Given the description of an element on the screen output the (x, y) to click on. 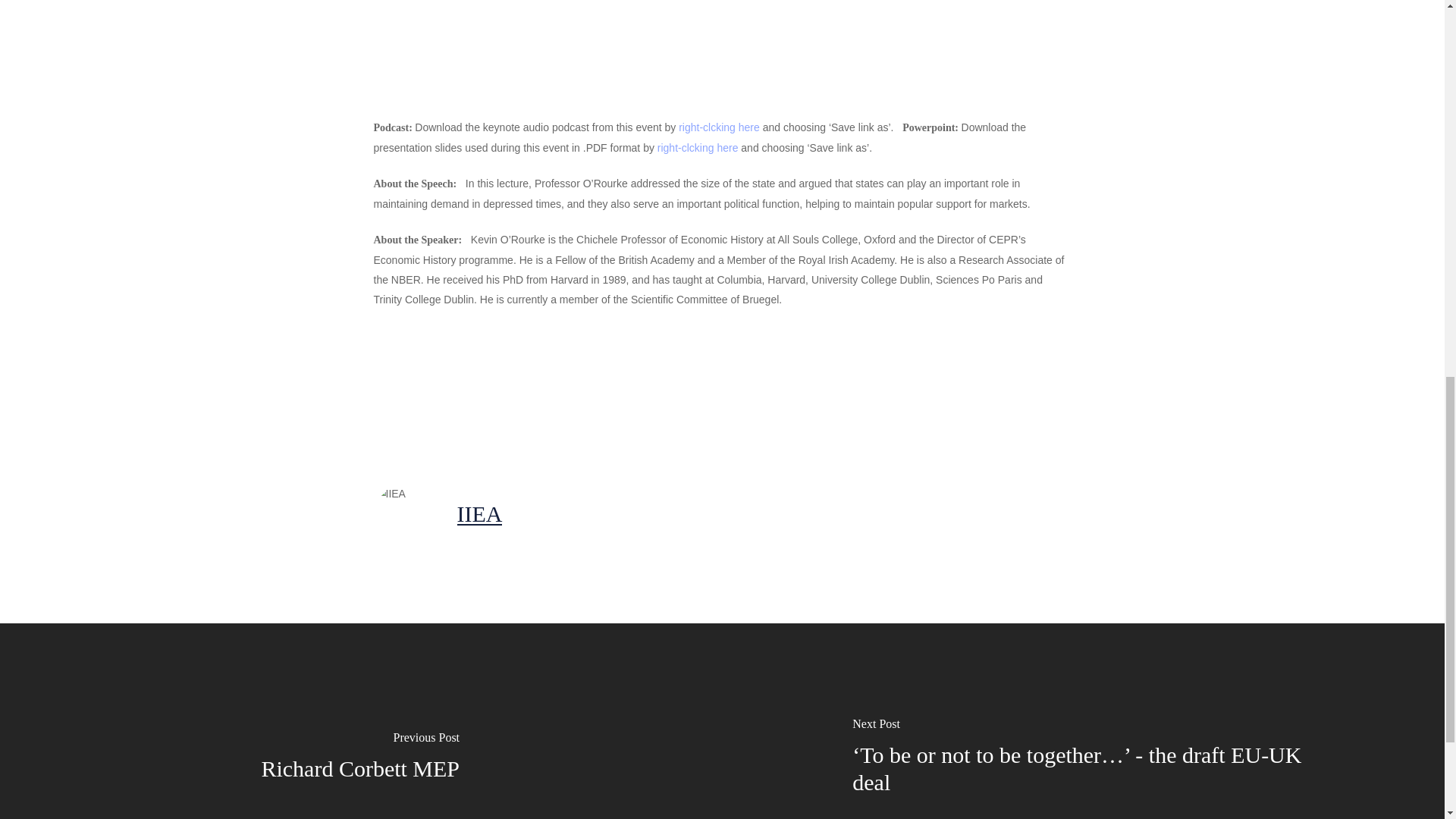
Share this (414, 392)
Tweet this (510, 392)
Tweet (510, 392)
right-clcking here (719, 127)
right-clcking here (698, 147)
Share (414, 392)
Share (604, 392)
Pin (692, 392)
IIEA (479, 513)
Share this (604, 392)
Pin this (692, 392)
